Given the description of an element on the screen output the (x, y) to click on. 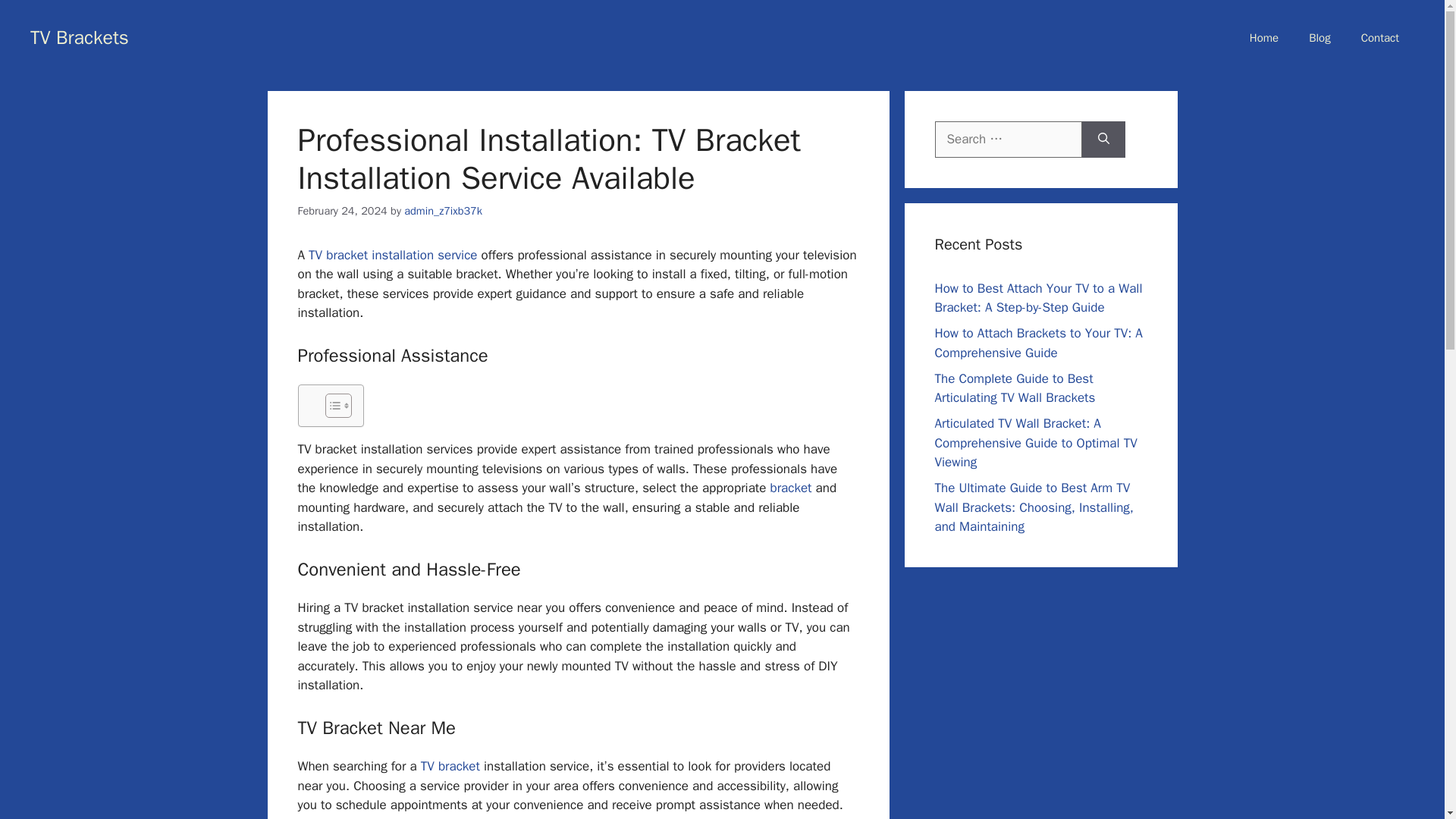
Contact (1379, 37)
bracket (791, 487)
The Complete Guide to Best Articulating TV Wall Brackets (1014, 387)
TV Brackets (79, 37)
Blog (1319, 37)
Home (1264, 37)
TV bracket (450, 765)
